Given the description of an element on the screen output the (x, y) to click on. 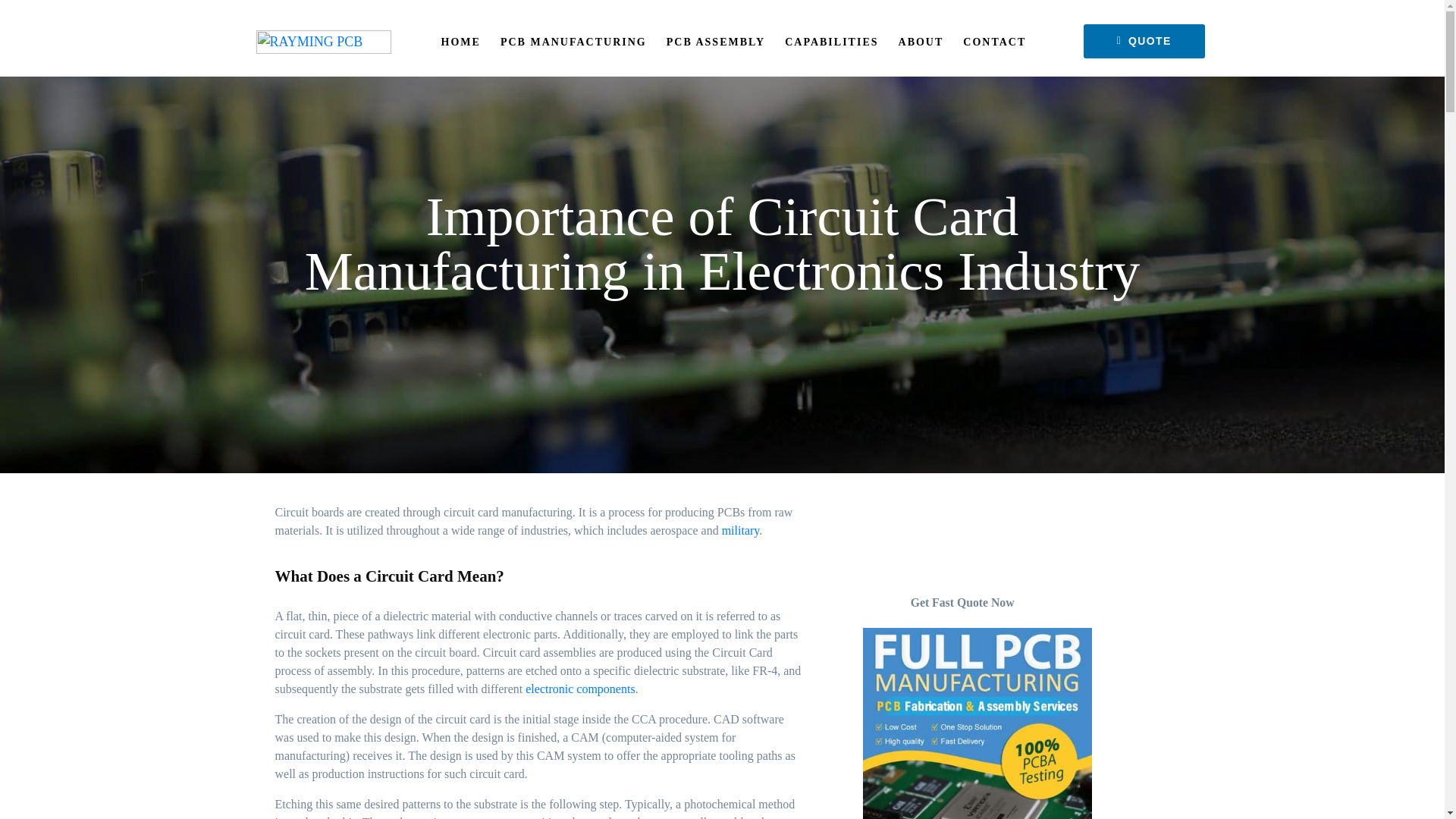
PCB MANUFACTURING (573, 42)
HOME (460, 42)
